Given the description of an element on the screen output the (x, y) to click on. 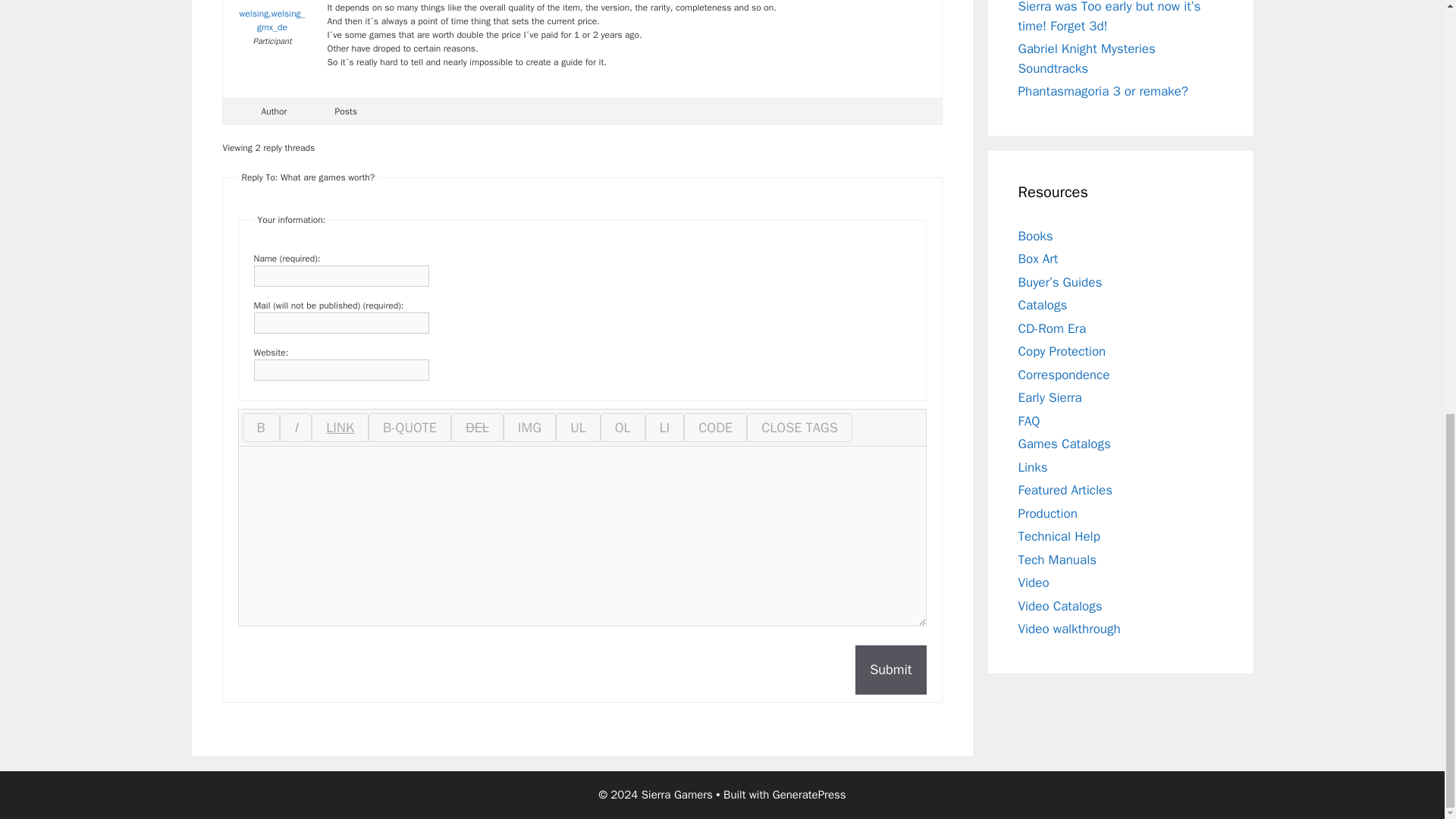
ul (577, 427)
close tags (798, 427)
i (296, 427)
Close all open tags (798, 427)
code (715, 427)
img (529, 427)
li (664, 427)
ol (622, 427)
b-quote (409, 427)
b (261, 427)
del (477, 427)
link (339, 427)
